Given the description of an element on the screen output the (x, y) to click on. 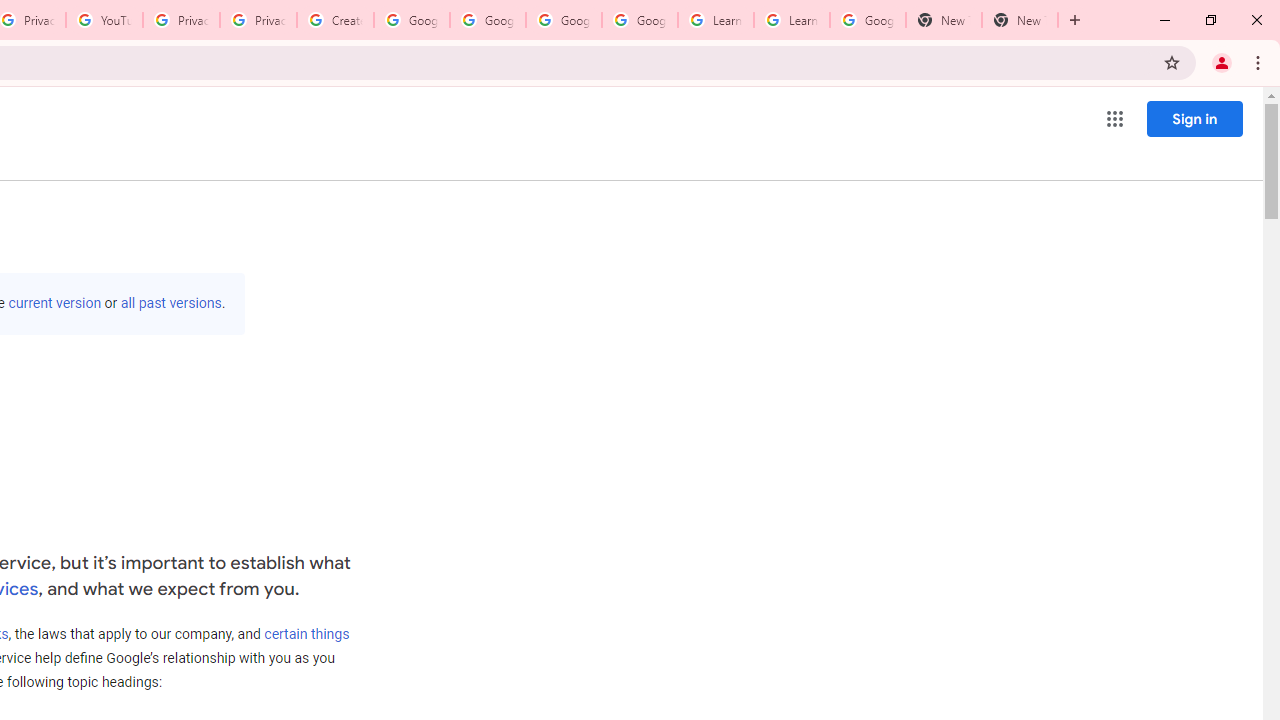
New Tab (943, 20)
New Tab (1019, 20)
YouTube (104, 20)
Create your Google Account (335, 20)
